Given the description of an element on the screen output the (x, y) to click on. 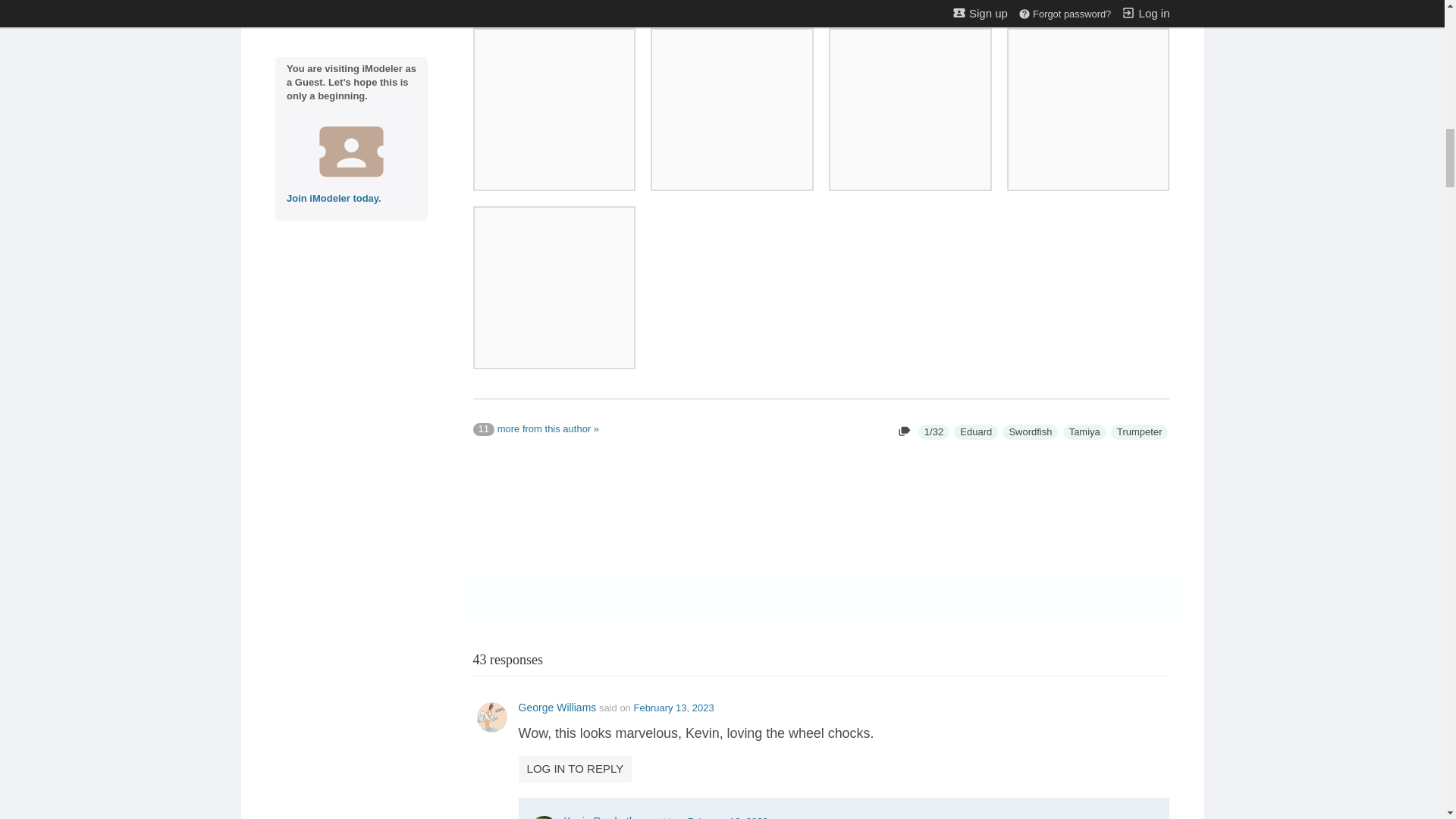
Eduard (975, 432)
